Given the description of an element on the screen output the (x, y) to click on. 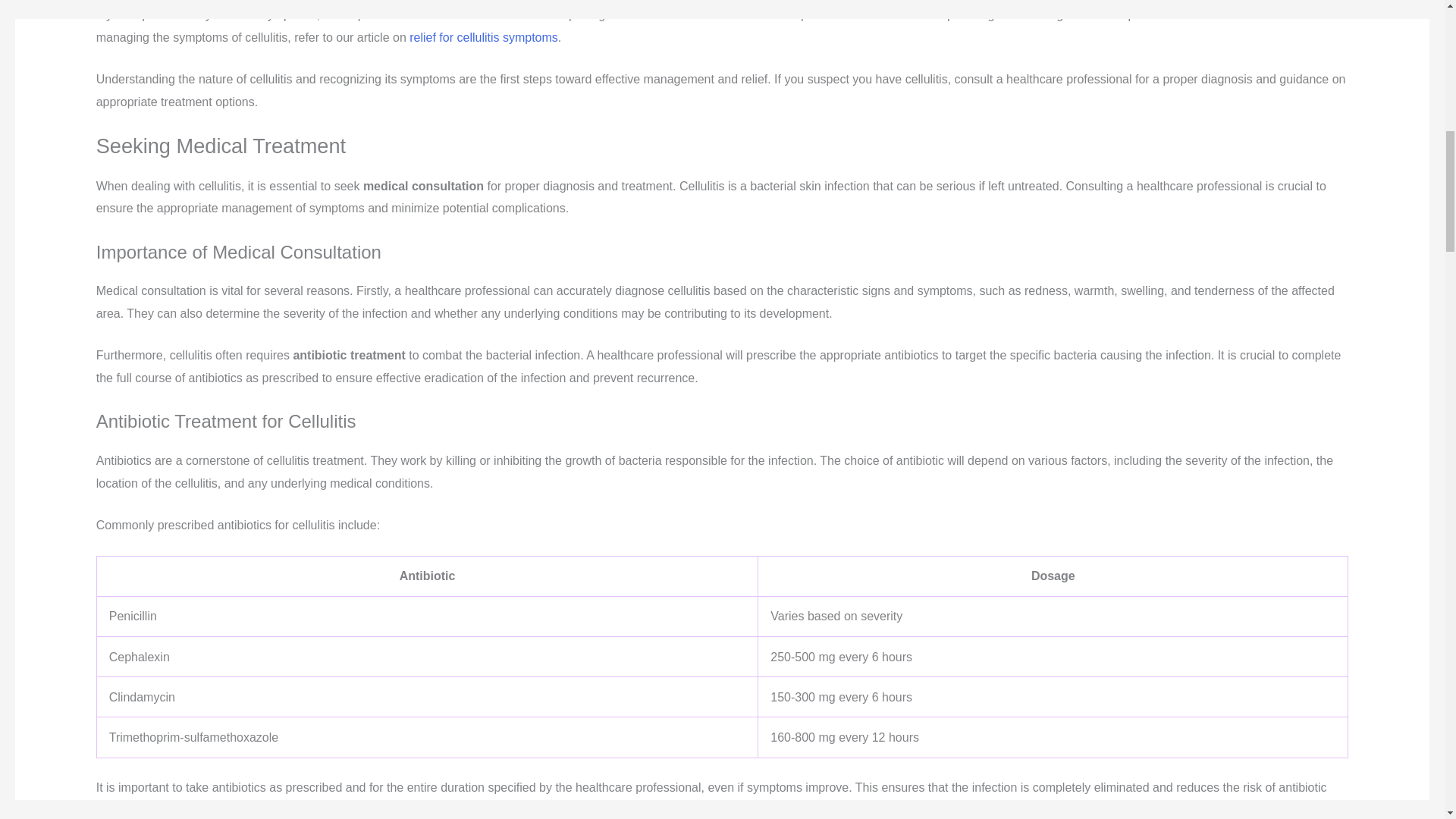
relief for cellulitis symptoms (483, 37)
